Given the description of an element on the screen output the (x, y) to click on. 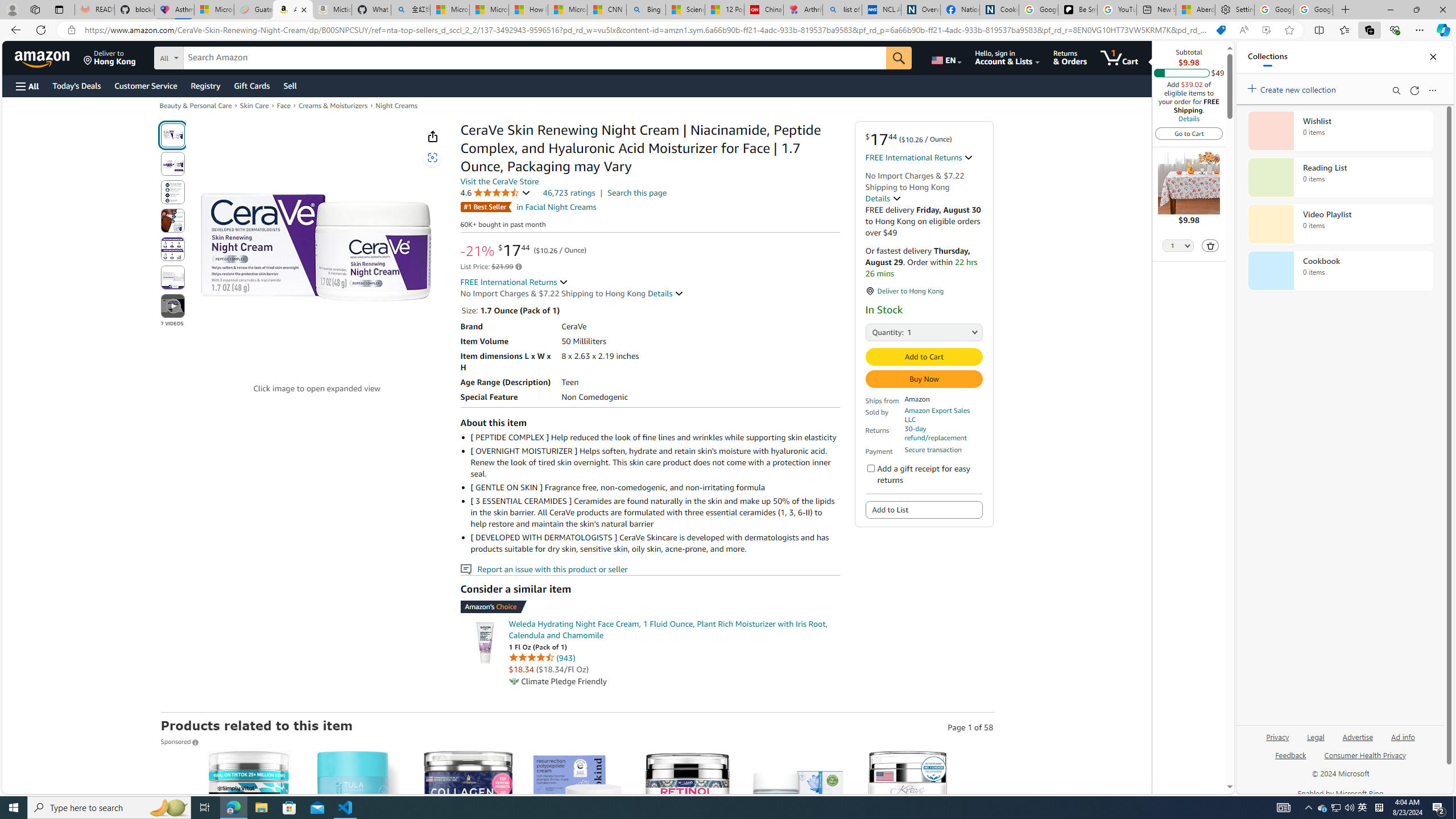
Search Amazon (534, 57)
Buy Now (924, 379)
More options menu (1432, 90)
